Given the description of an element on the screen output the (x, y) to click on. 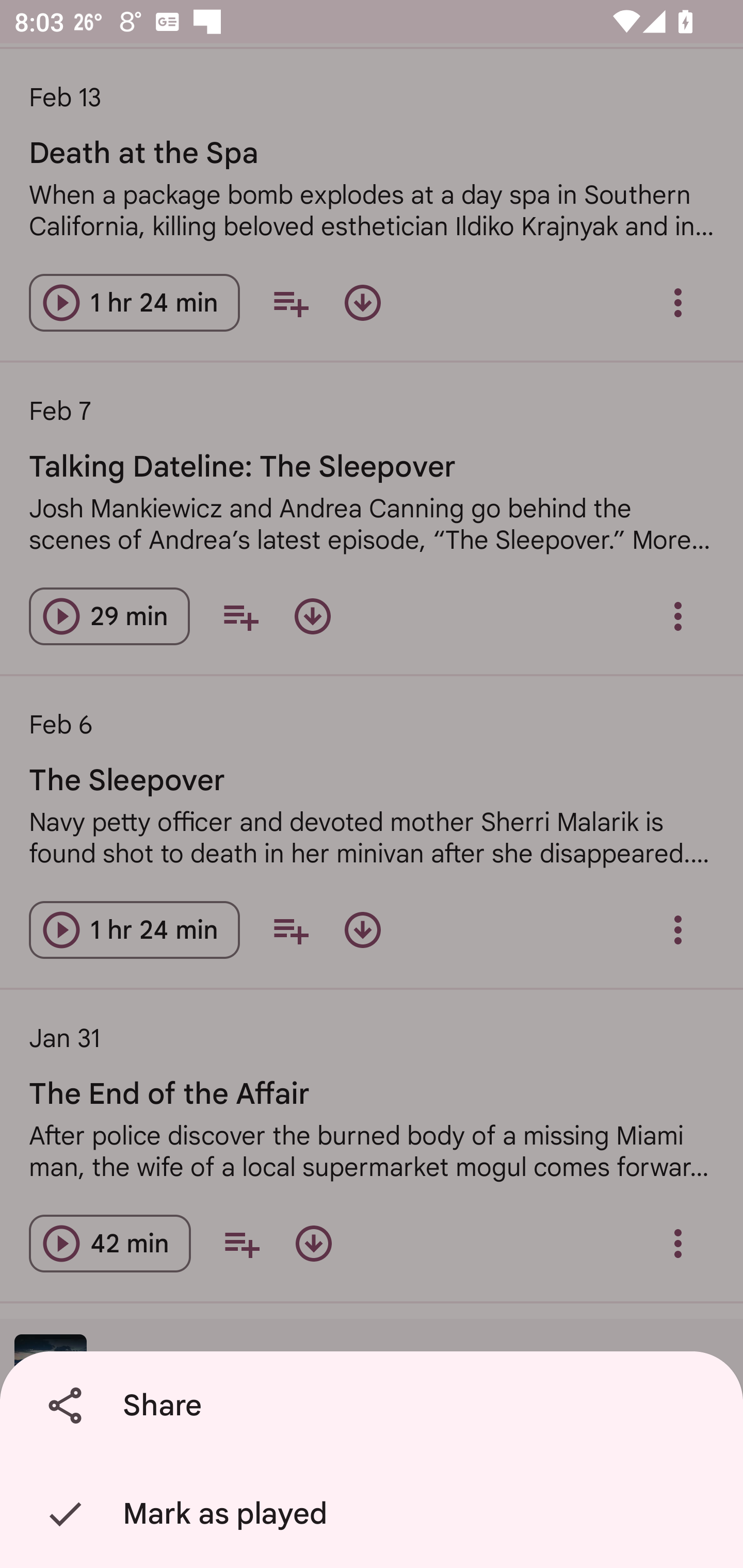
Share (375, 1405)
Mark as played (375, 1513)
